Given the description of an element on the screen output the (x, y) to click on. 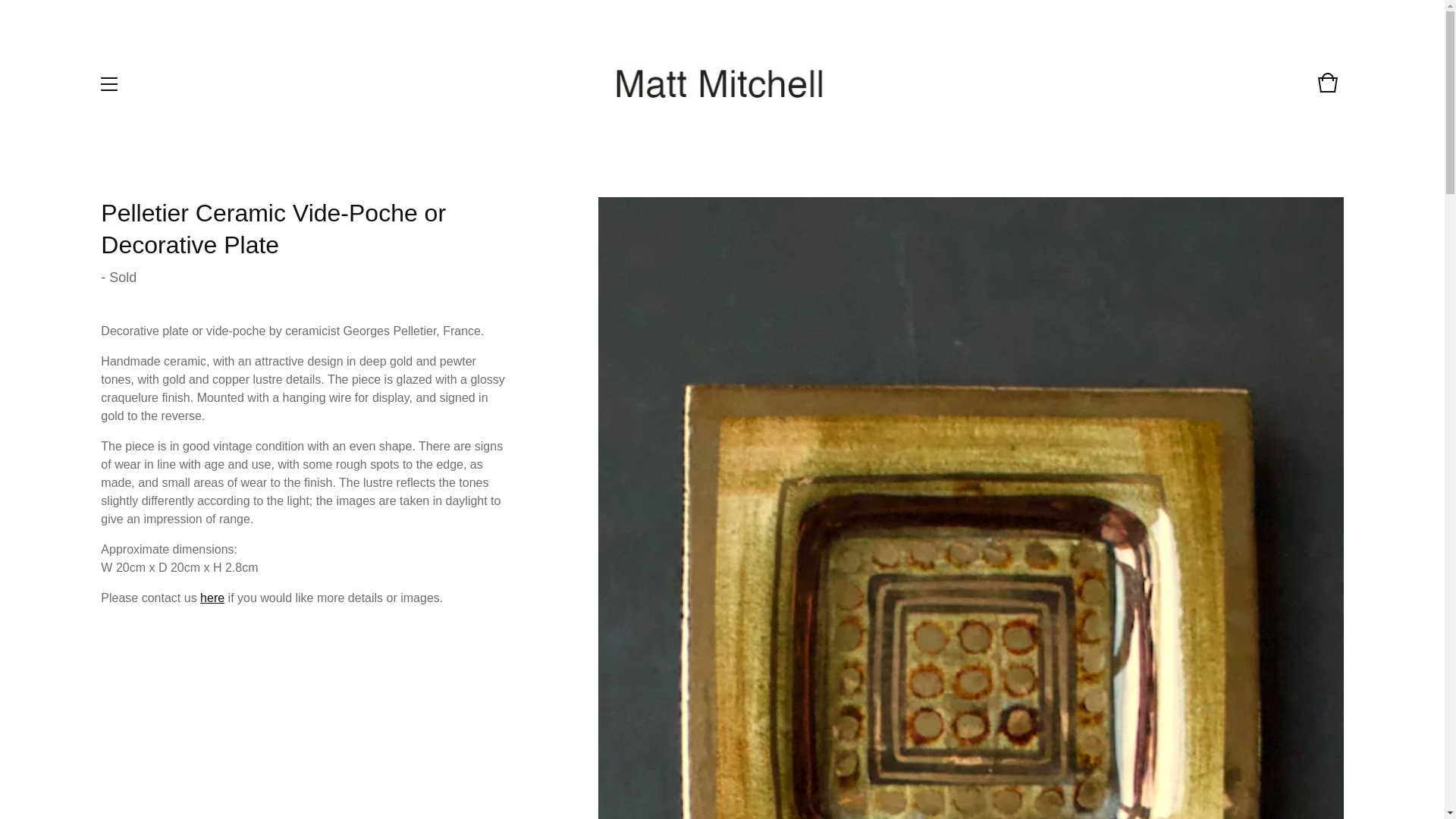
here (212, 597)
Matt Mitchell (719, 83)
Cart (1327, 89)
